Given the description of an element on the screen output the (x, y) to click on. 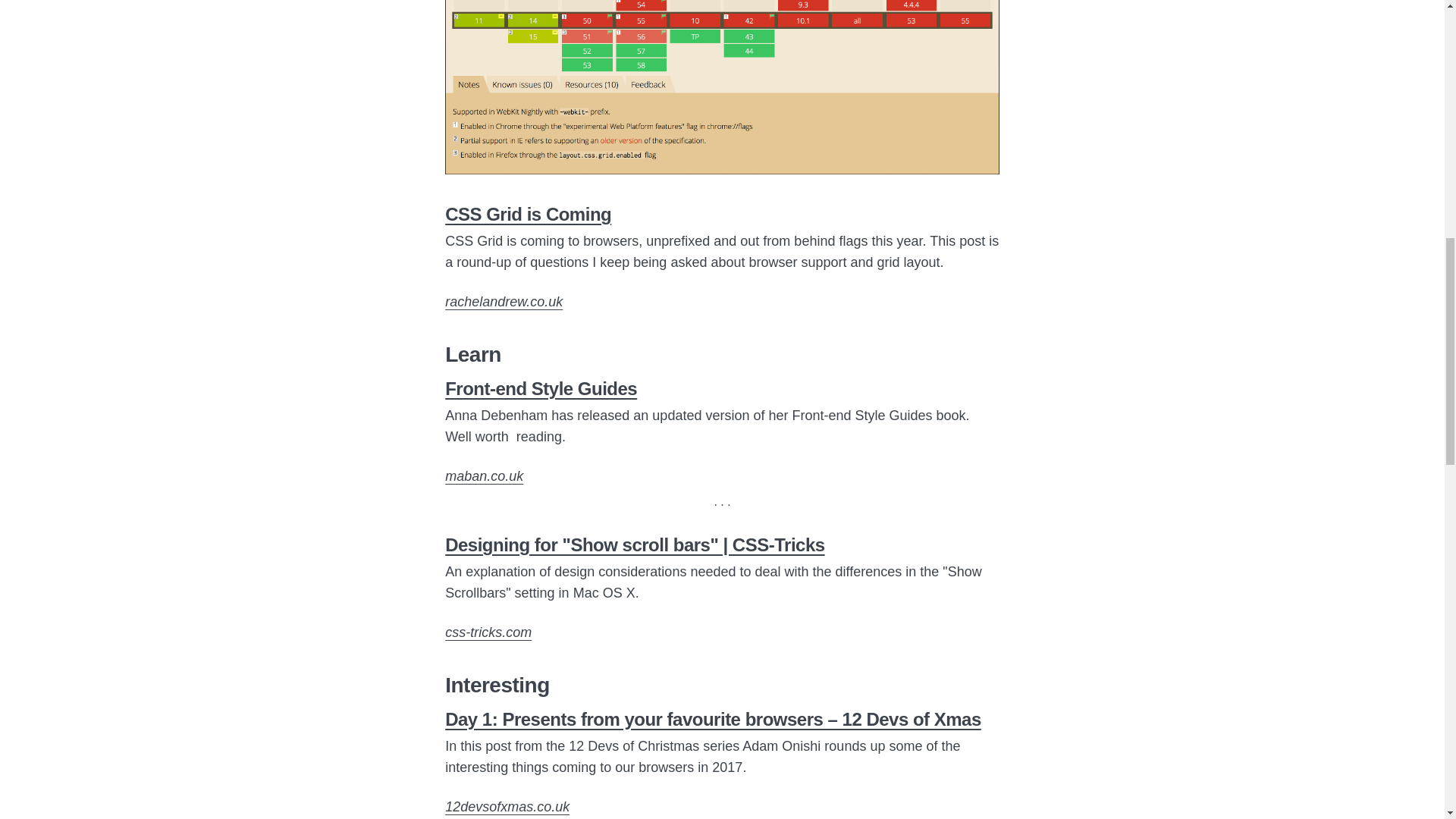
12devsofxmas.co.uk (507, 806)
maban.co.uk (483, 476)
rachelandrew.co.uk (503, 301)
CSS Grid is Coming (528, 213)
Front-end Style Guides (541, 388)
css-tricks.com (488, 631)
